Given the description of an element on the screen output the (x, y) to click on. 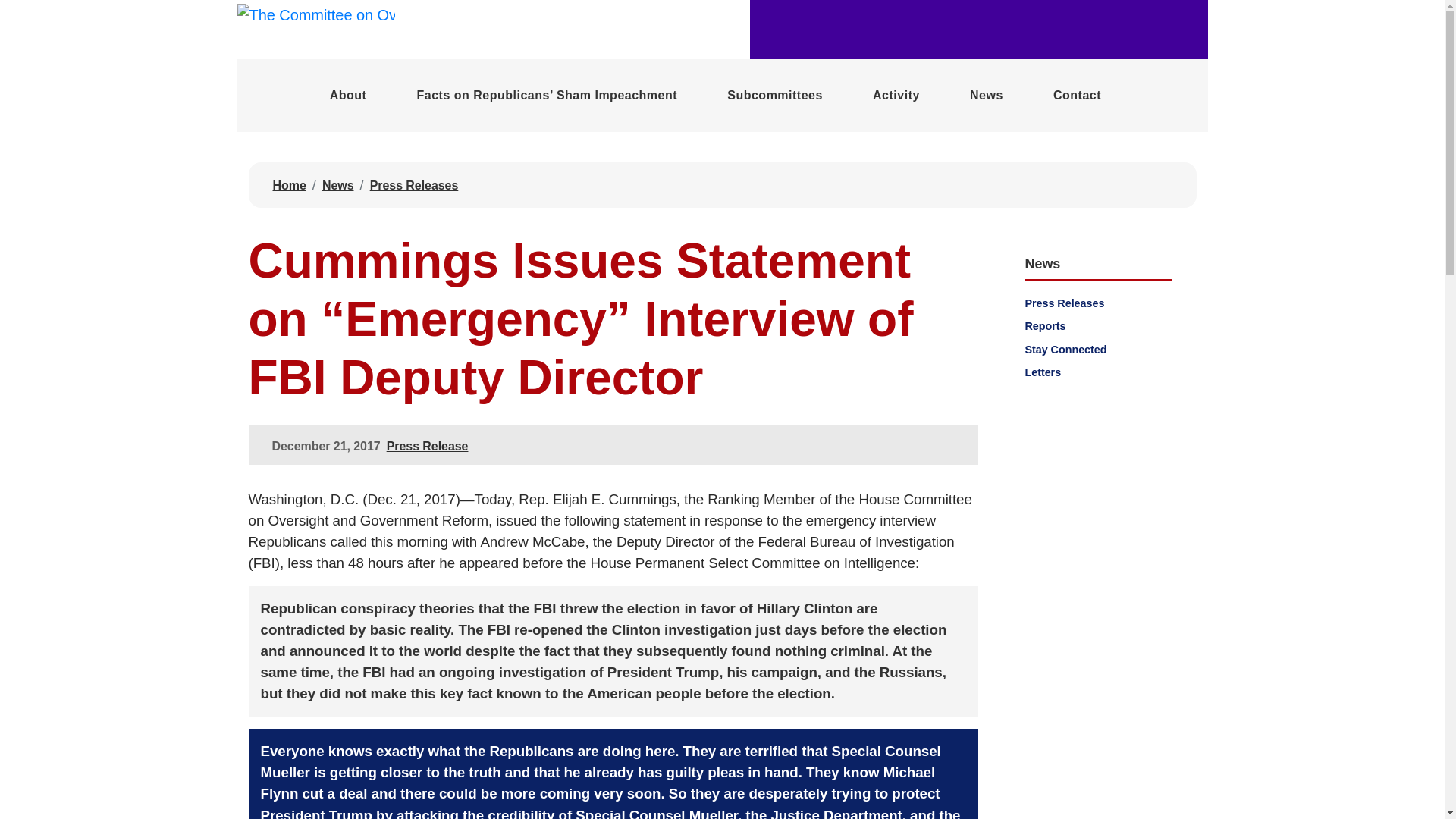
Activity (895, 94)
Send a message to your Member of Congress.  (1077, 94)
Home (289, 185)
News (337, 185)
Subcommittees (775, 94)
Press Releases (413, 185)
Press Release (427, 445)
Contact (1077, 94)
Committee Activity (895, 94)
